Given the description of an element on the screen output the (x, y) to click on. 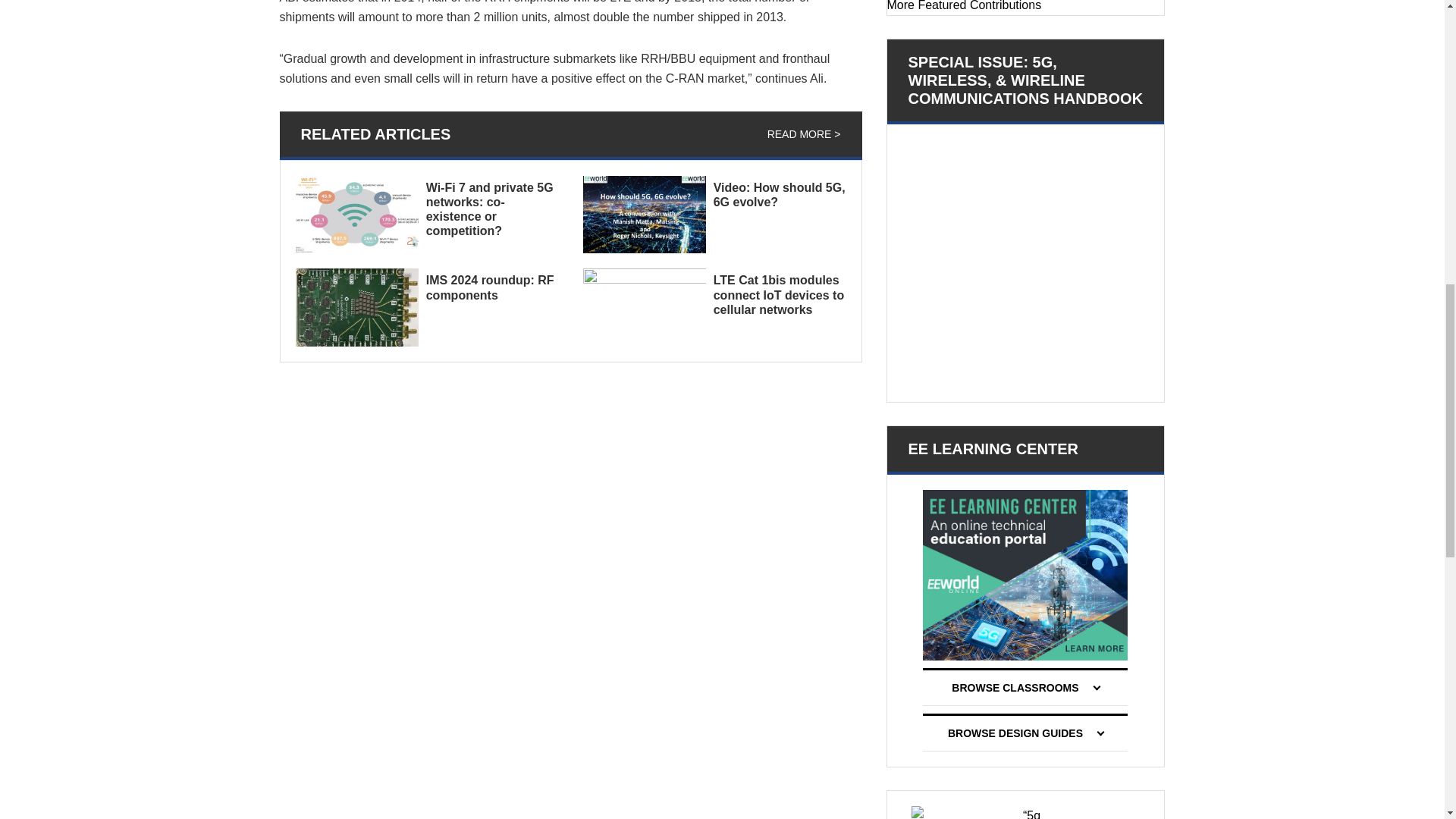
IMS 2024 roundup: RF components (490, 287)
Video: How should 5G, 6G evolve? (779, 194)
